Given the description of an element on the screen output the (x, y) to click on. 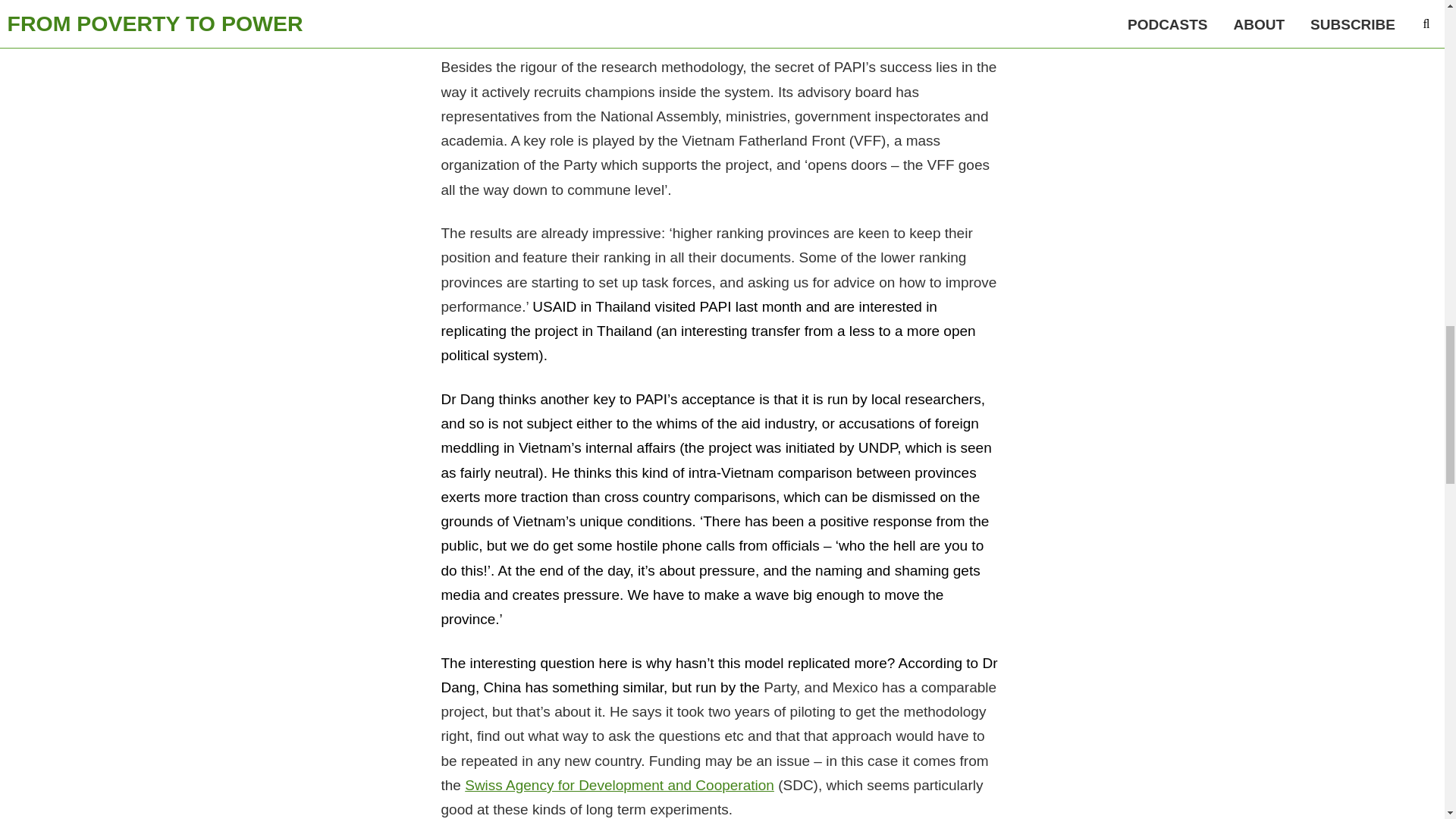
Swiss Agency for Development and Cooperation (619, 785)
